Given the description of an element on the screen output the (x, y) to click on. 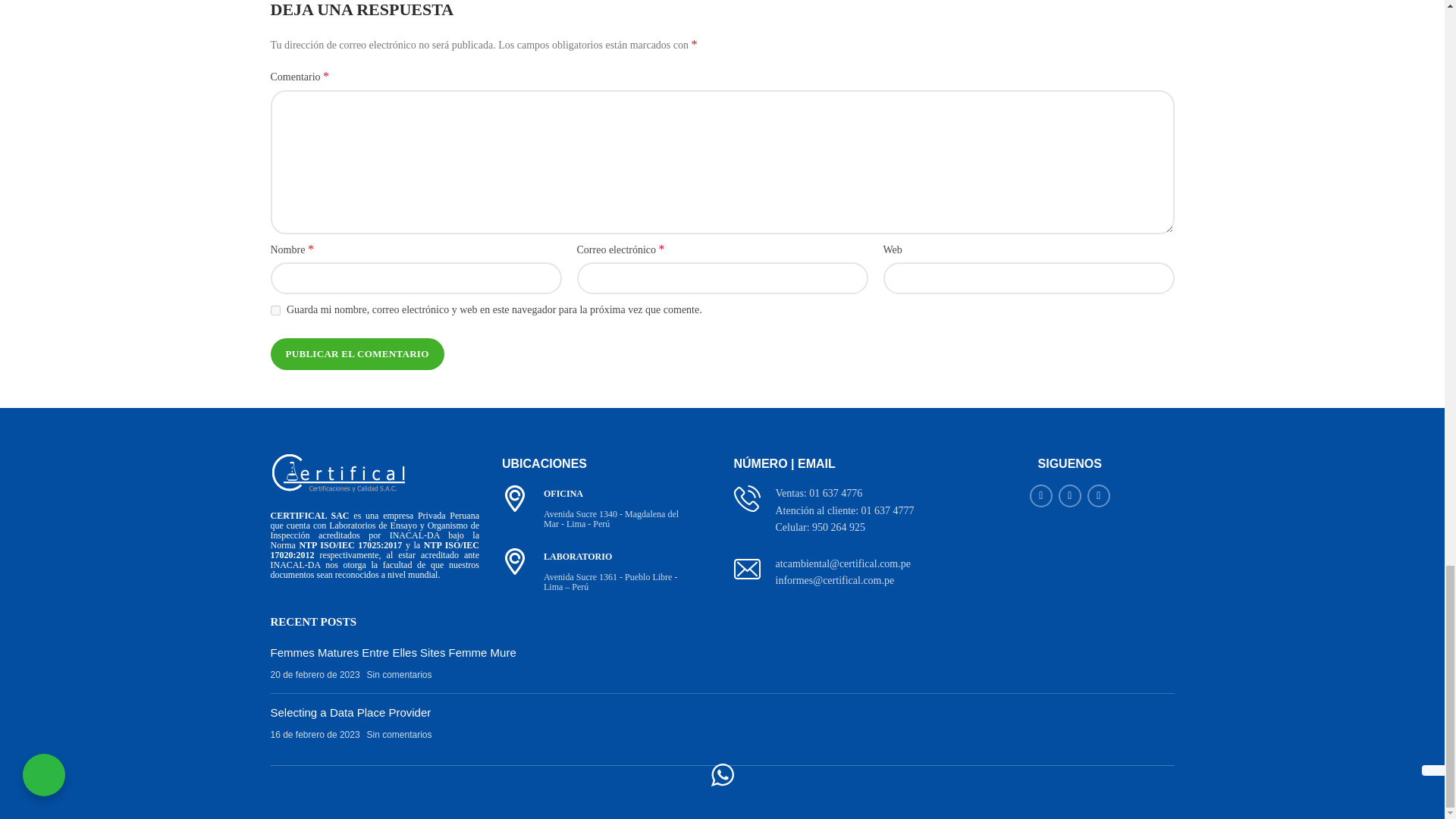
MAIL (746, 569)
location (515, 498)
Enlace permanente aSelecting a Data Place Provider (349, 712)
location (515, 560)
PHONE (746, 498)
Publicar el comentario (356, 354)
yes (274, 310)
logocertifical (337, 473)
